Given the description of an element on the screen output the (x, y) to click on. 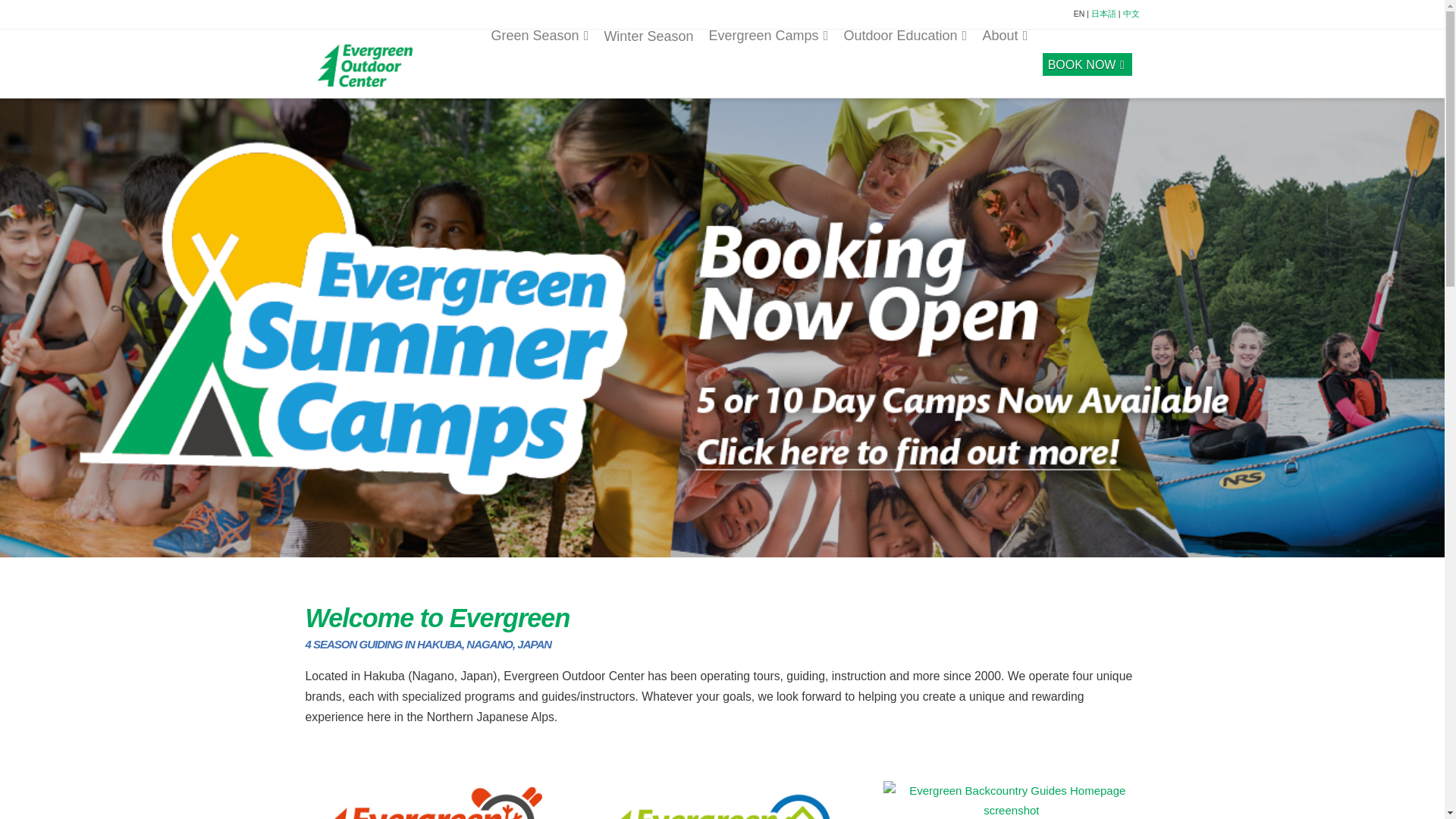
BOOK NOW (1086, 62)
Green Season (539, 62)
Outdoor Education (904, 62)
Winter Season (647, 63)
Evergreen Camps (767, 62)
About (1004, 62)
